Given the description of an element on the screen output the (x, y) to click on. 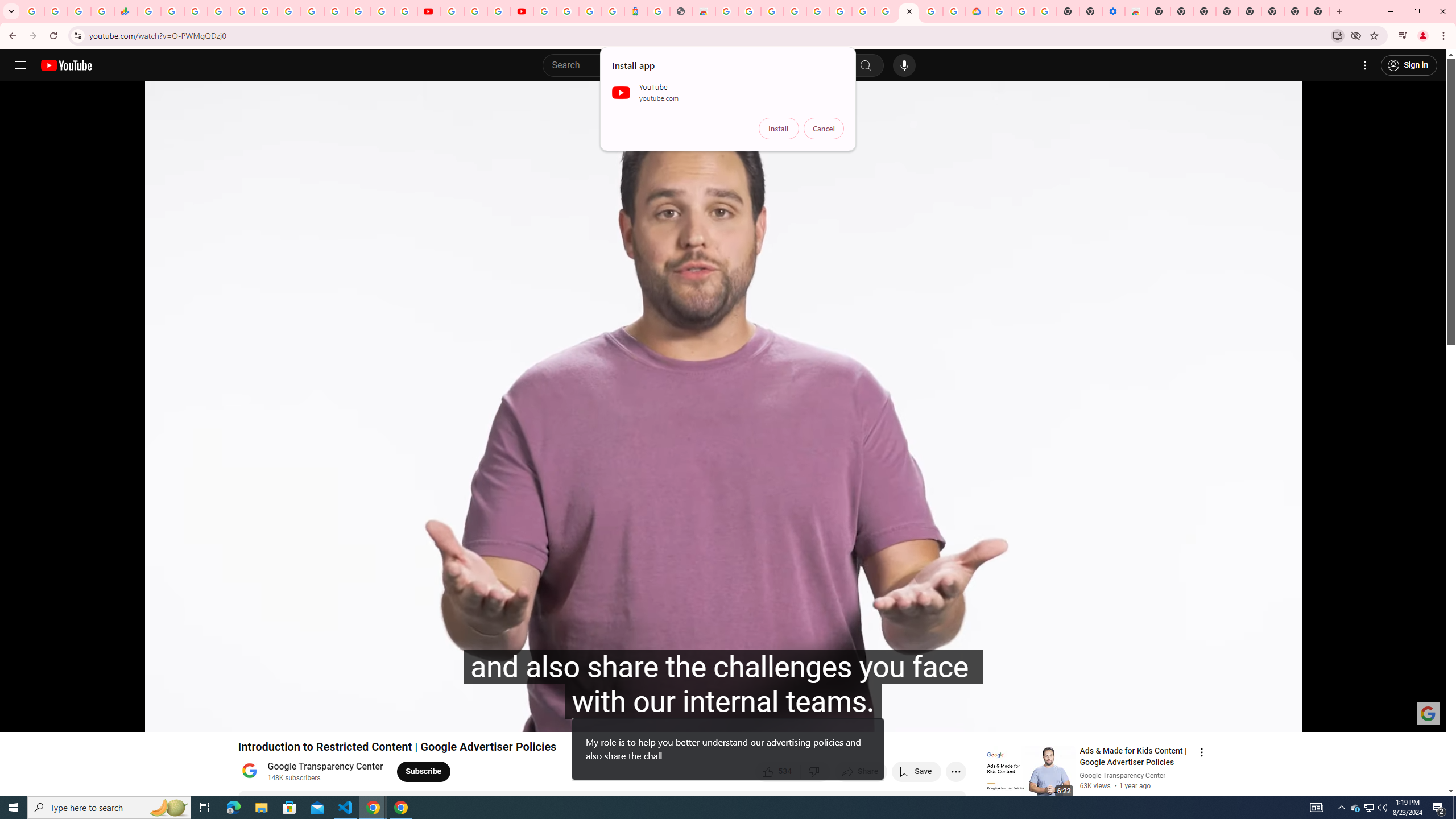
Google Account Help (475, 11)
Mute (m) (73, 718)
Theater mode (t) (1398, 718)
Privacy Checkup (405, 11)
Action menu (1200, 752)
Seek slider (723, 703)
More actions (955, 771)
Sign in - Google Accounts (817, 11)
